Given the description of an element on the screen output the (x, y) to click on. 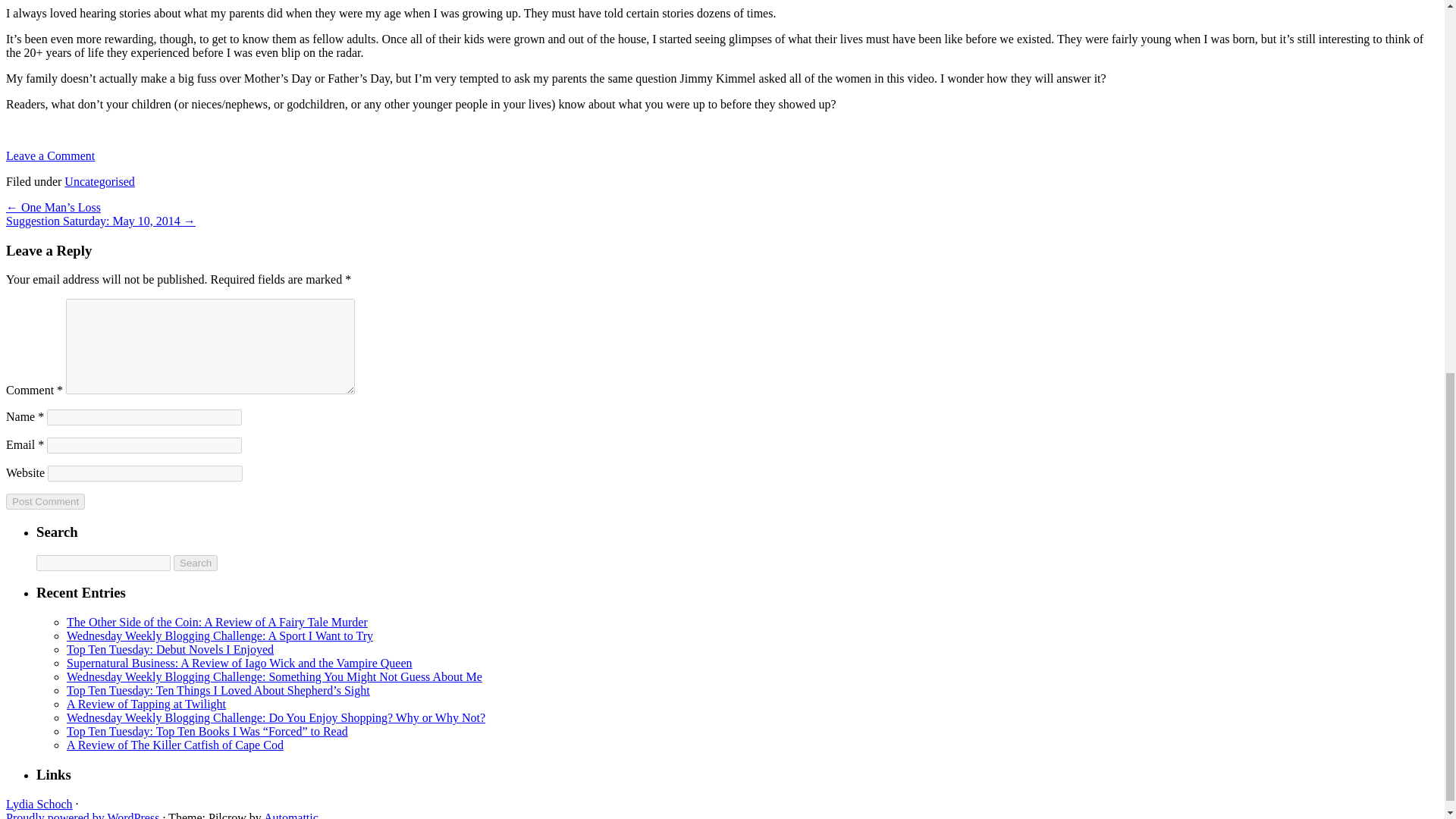
The Other Side of the Coin: A Review of A Fairy Tale Murder (217, 621)
Uncategorised (98, 181)
Search (194, 562)
A Review of The Killer Catfish of Cape Cod (174, 744)
Leave a Comment (49, 155)
Lydia Schoch (38, 803)
Lydia Schoch (38, 803)
A Review of Tapping at Twilight (145, 703)
Post Comment (44, 501)
Top Ten Tuesday: Debut Novels I Enjoyed (169, 649)
Wednesday Weekly Blogging Challenge: A Sport I Want to Try (219, 635)
Post Comment (44, 501)
Search (194, 562)
